Given the description of an element on the screen output the (x, y) to click on. 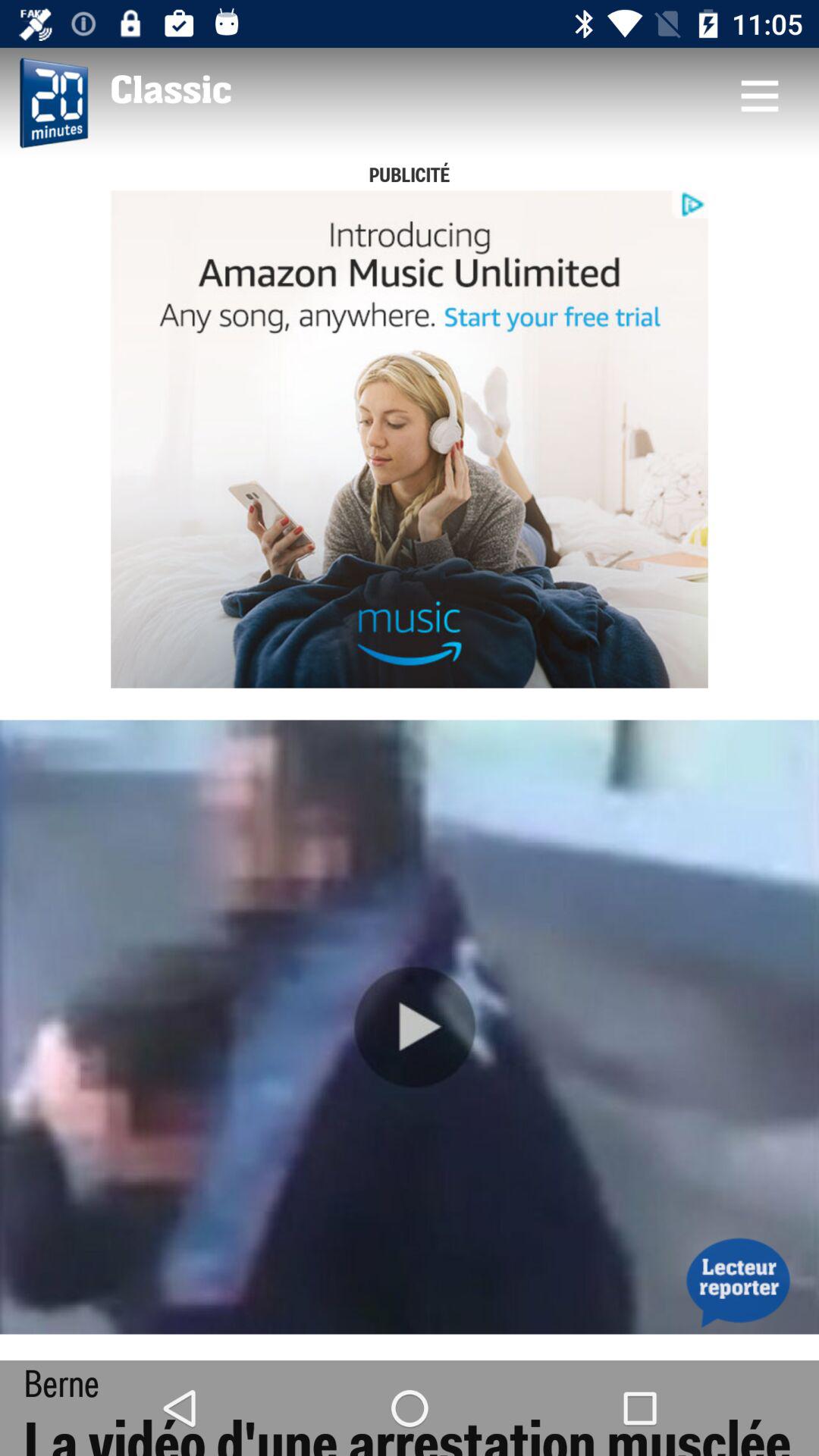
toggle the advertisement option (409, 439)
